Given the description of an element on the screen output the (x, y) to click on. 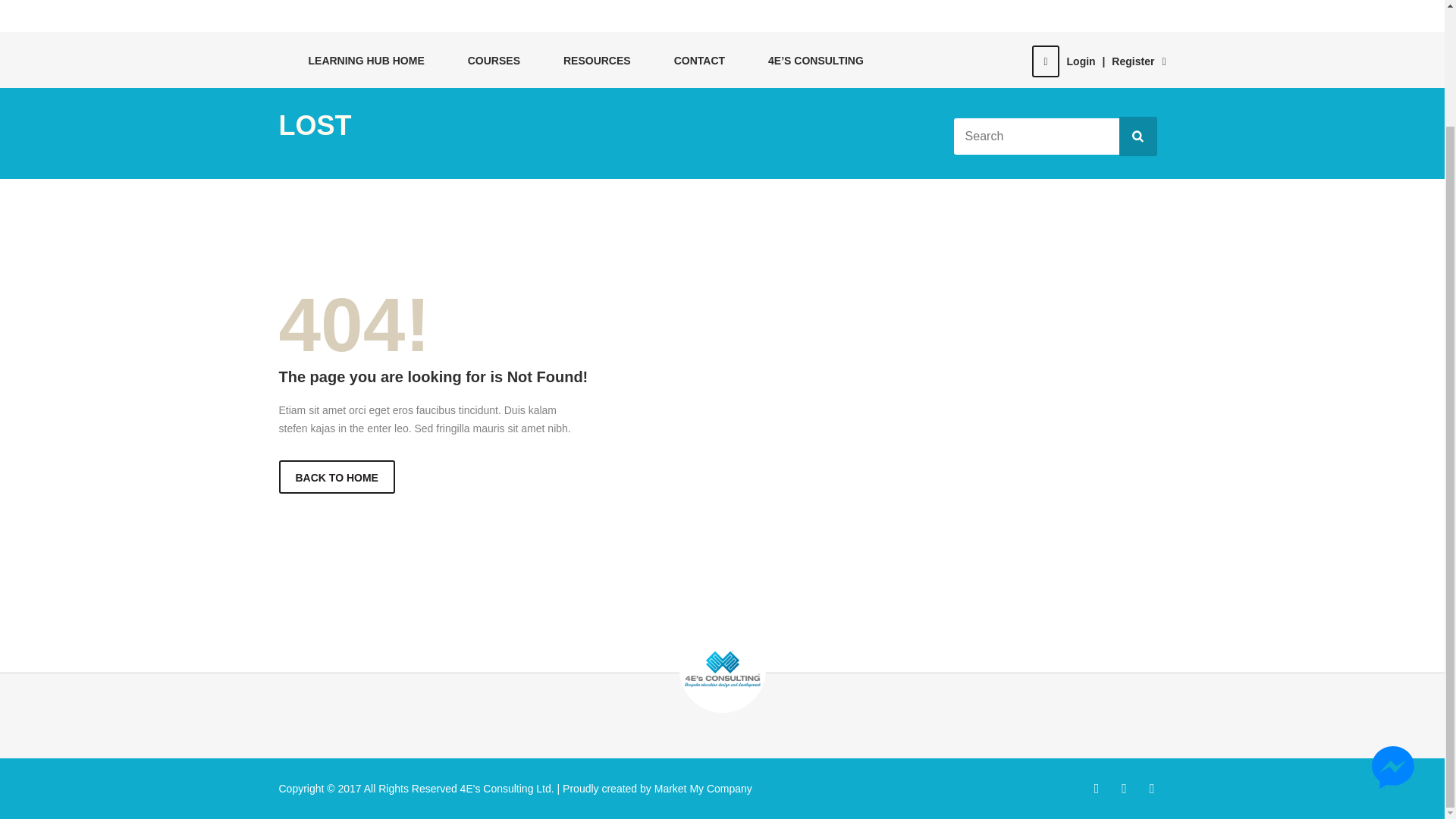
 Market My Company (701, 787)
CONTACT (691, 59)
COURSES (486, 59)
LEARNING HUB HOME (358, 59)
RESOURCES (589, 59)
Footer Logo (722, 669)
BACK TO HOME (336, 476)
